Given the description of an element on the screen output the (x, y) to click on. 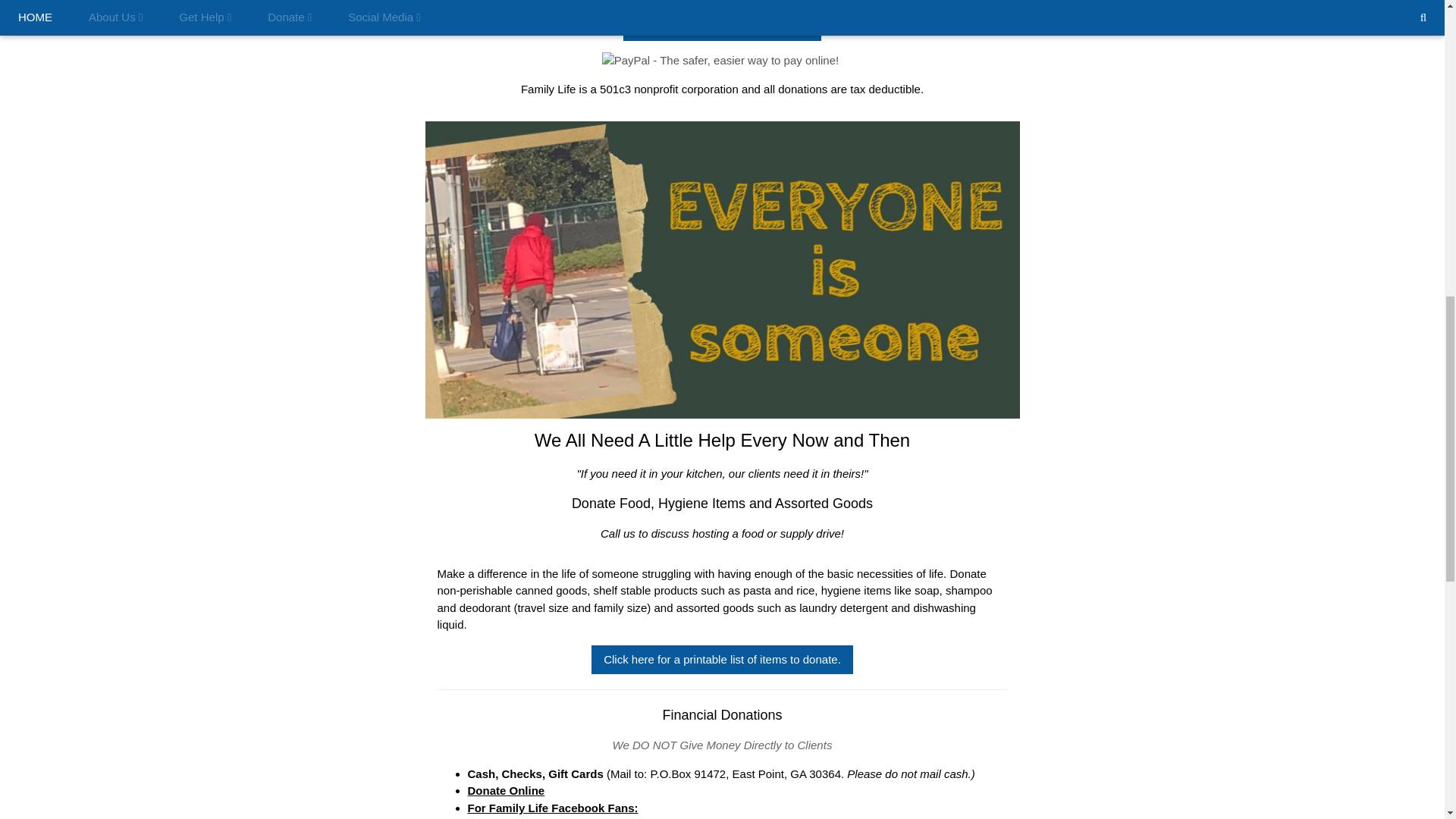
Click here to donate online now. (722, 26)
Donate Online (505, 789)
For Family Life Facebook Fans: (552, 807)
Click here for a printable list of items to donate. (722, 659)
